Given the description of an element on the screen output the (x, y) to click on. 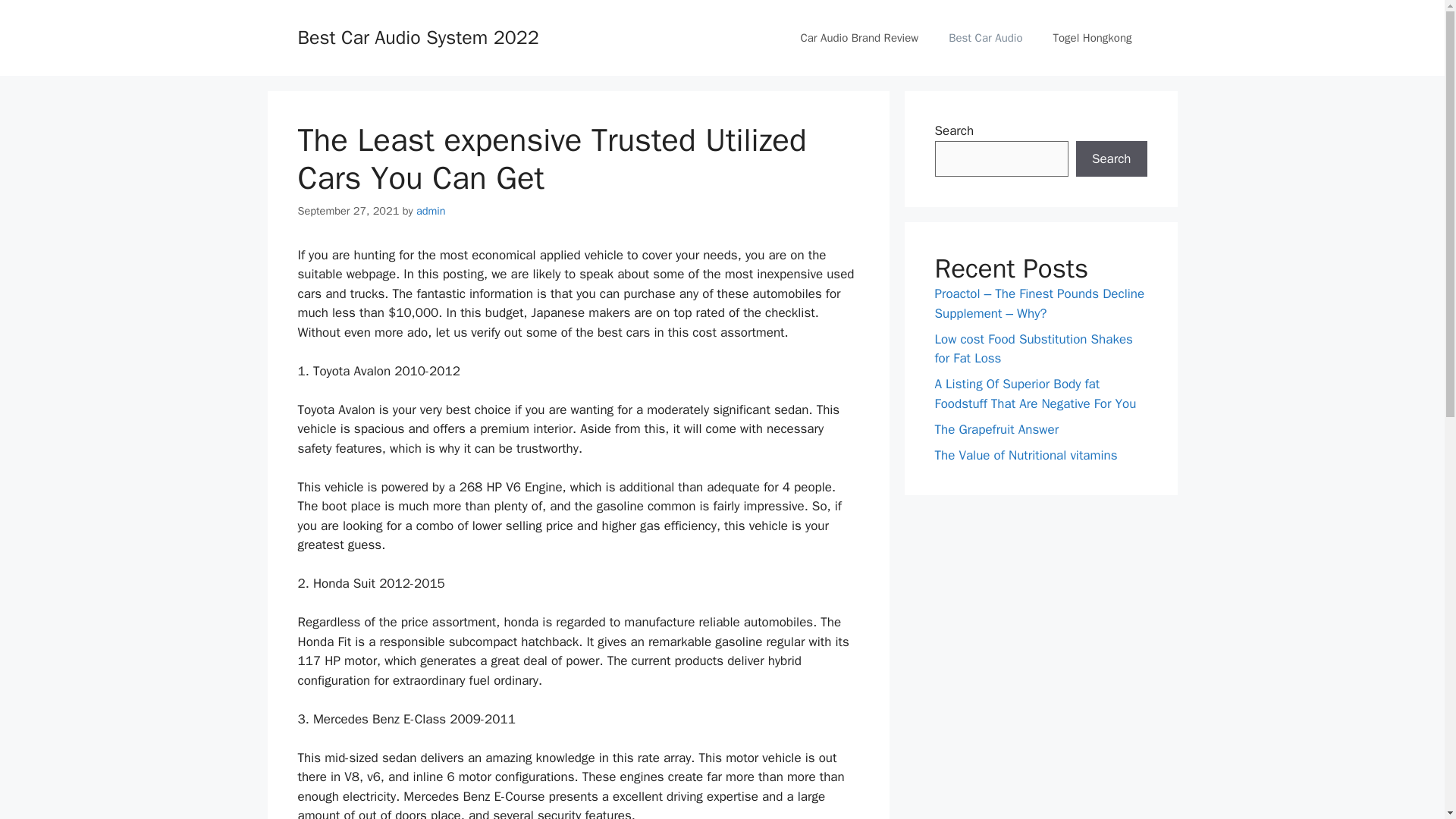
The Grapefruit Answer (996, 429)
Low cost Food Substitution Shakes for Fat Loss (1033, 348)
Best Car Audio System 2022 (417, 37)
Togel Hongkong (1091, 37)
Best Car Audio (984, 37)
View all posts by admin (430, 210)
admin (430, 210)
Car Audio Brand Review (858, 37)
The Value of Nutritional vitamins (1025, 455)
